Given the description of an element on the screen output the (x, y) to click on. 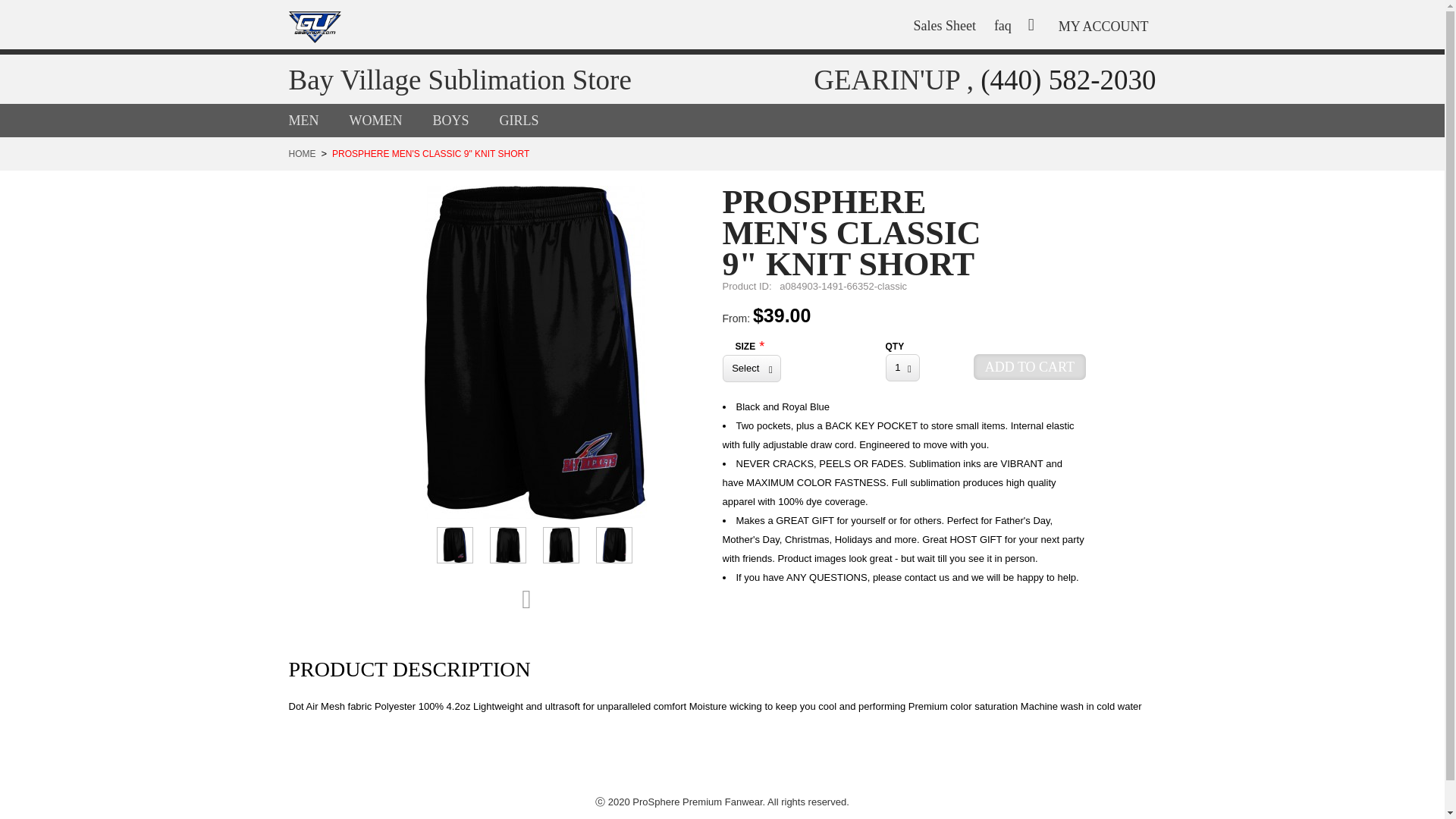
GIRLS (534, 119)
Sales Sheet (951, 25)
WOMEN (390, 119)
Email to a Friend (534, 600)
ProSphere Men's Classic 9" Knit Short (507, 545)
Go to Home Page (301, 153)
BOYS (465, 119)
MY ACCOUNT (1103, 16)
ProSphere Men's Classic 9" Knit Short (454, 545)
ProSphere Men's Classic 9" Knit Short (561, 545)
HOME (301, 153)
ADD TO CART (1030, 366)
Add to Cart (1030, 366)
Email to a Friend (534, 600)
ProSphere Men's Classic 9" Knit Short (613, 545)
